Given the description of an element on the screen output the (x, y) to click on. 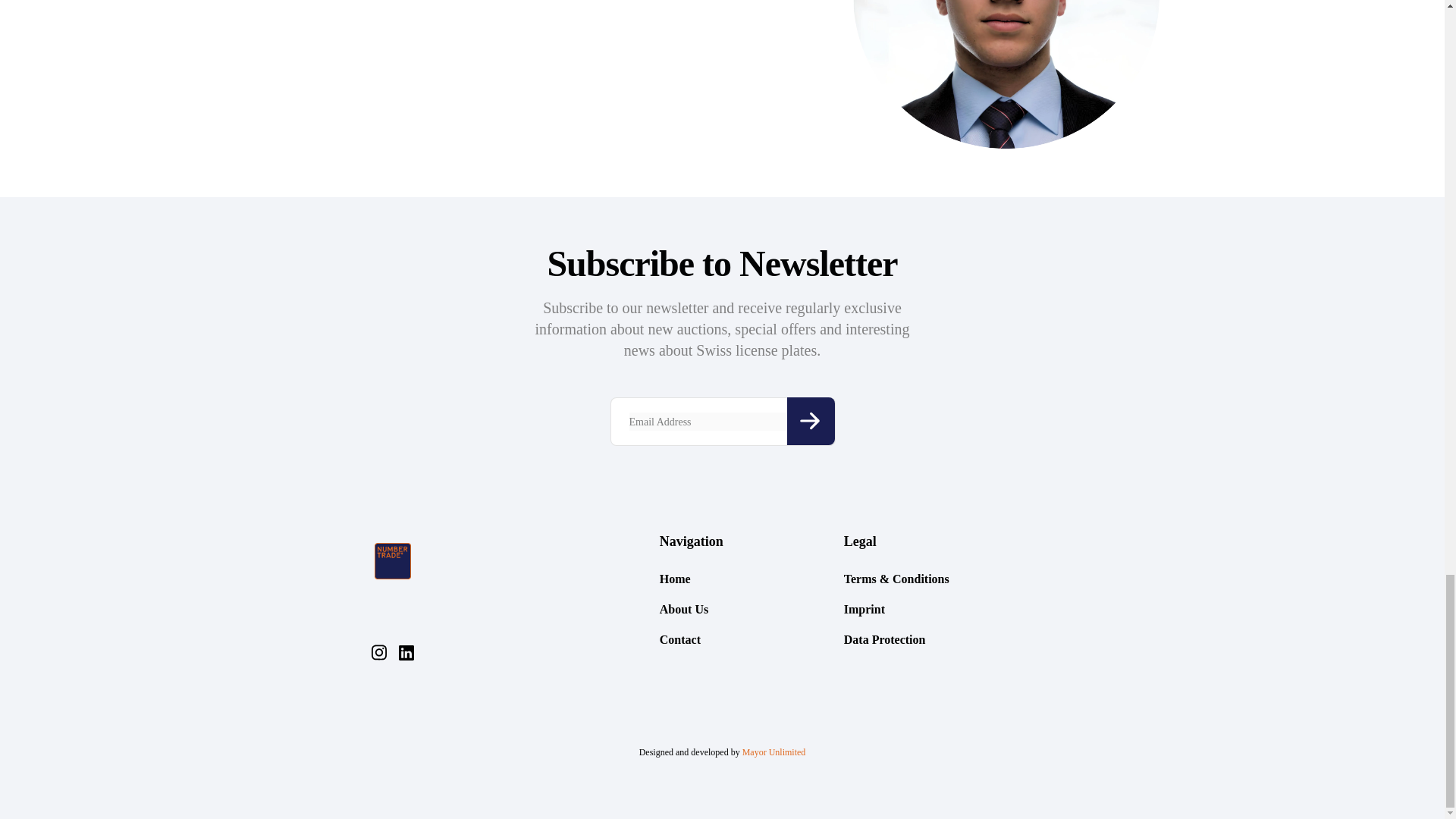
Contact (679, 639)
About Us (683, 608)
Data Protection (885, 639)
Home (674, 578)
Icon description (810, 421)
Imprint (864, 608)
Mayor Unlimited (774, 751)
